Given the description of an element on the screen output the (x, y) to click on. 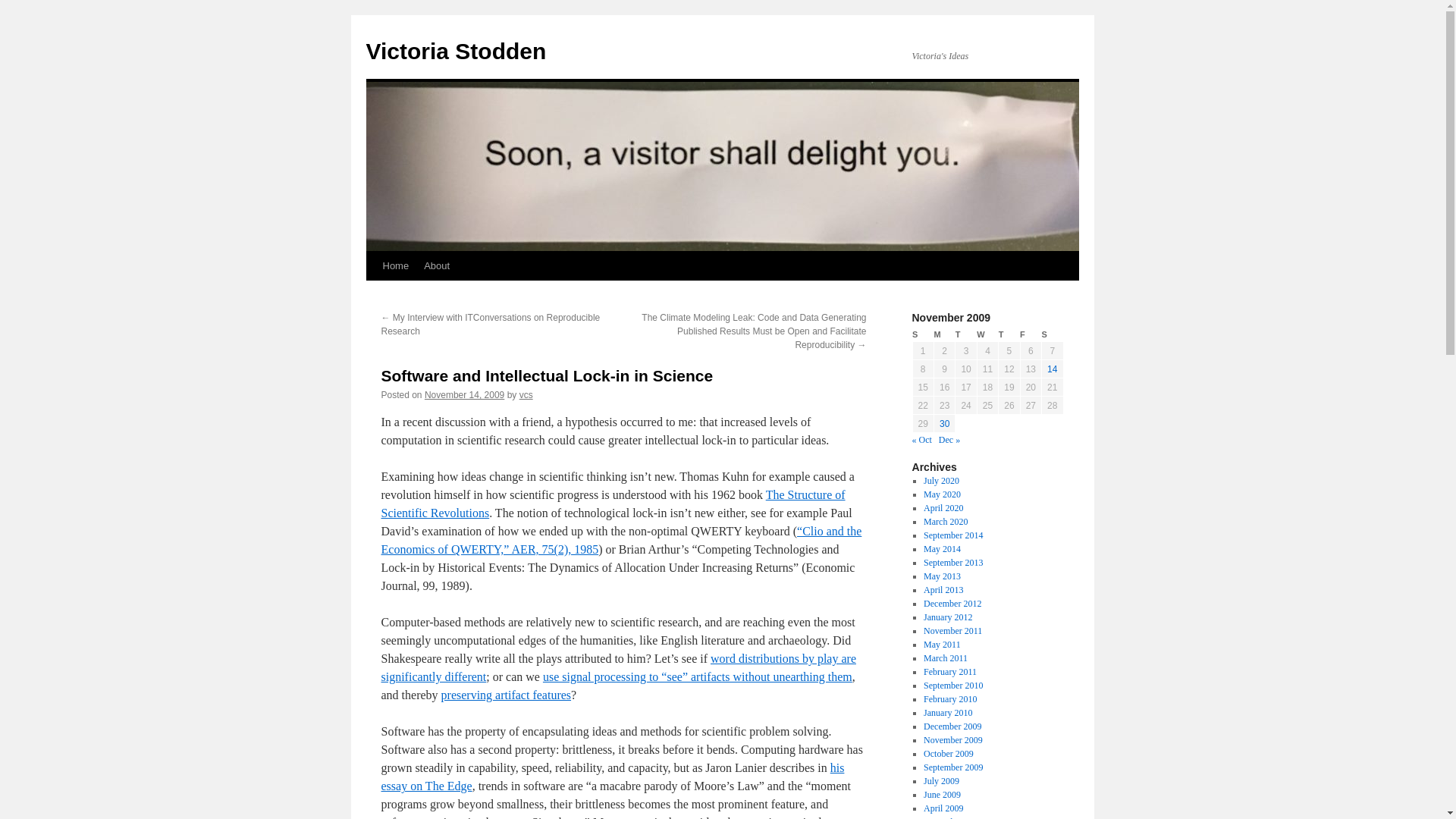
May 2013 (941, 575)
March 2020 (945, 521)
July 2020 (941, 480)
30 (944, 423)
View all posts by vcs (525, 394)
Wednesday (986, 334)
14 (1051, 368)
Tuesday (965, 334)
About (436, 265)
preserving artifact features (505, 694)
vcs (525, 394)
April 2013 (942, 589)
Home (395, 265)
Sunday (922, 334)
Thursday (1009, 334)
